Given the description of an element on the screen output the (x, y) to click on. 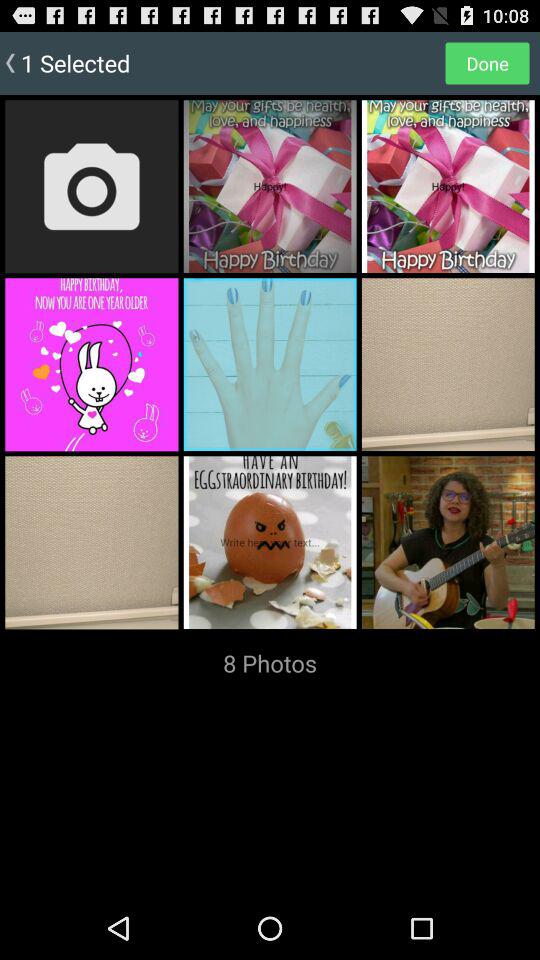
tap the item next to the 1 selected icon (487, 62)
